Given the description of an element on the screen output the (x, y) to click on. 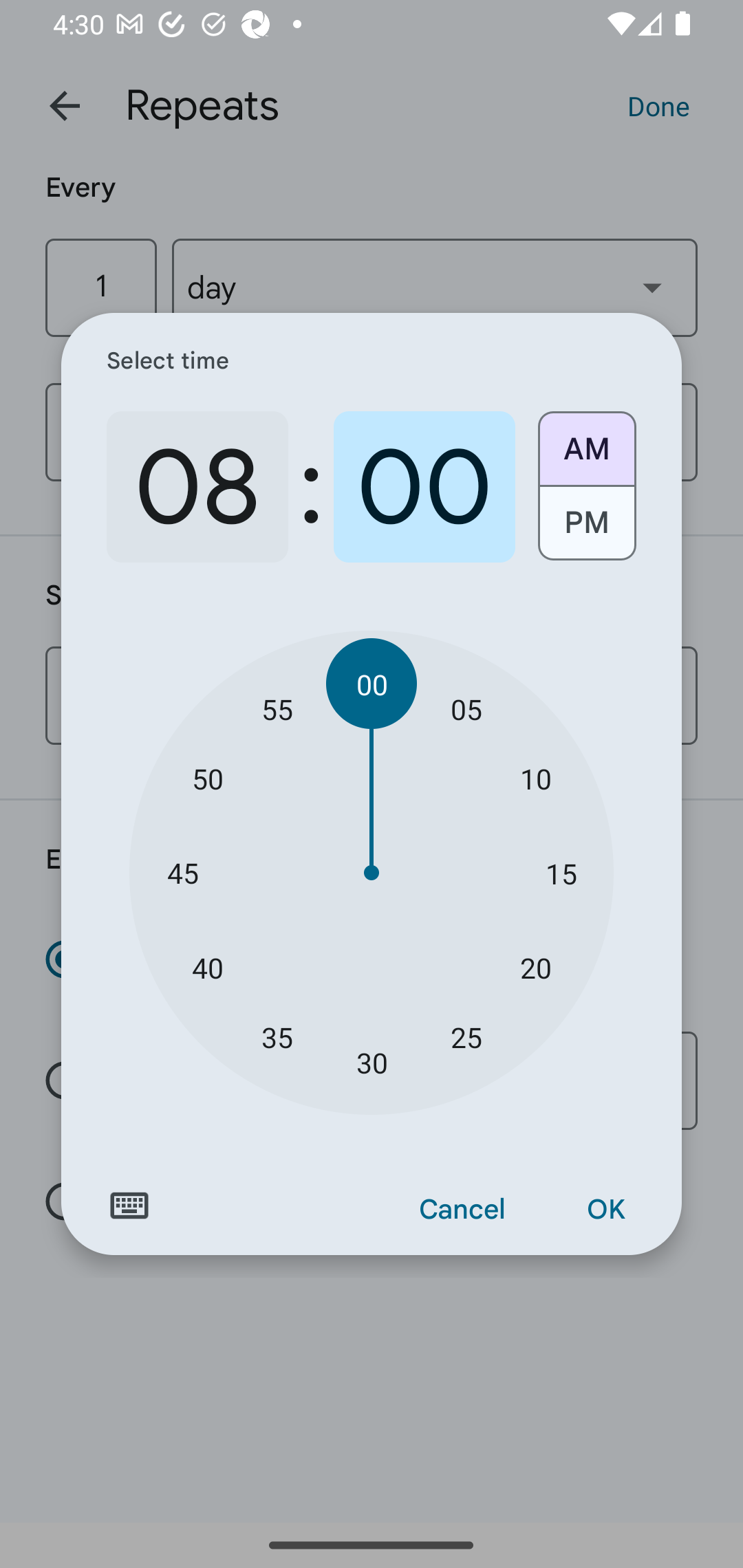
AM (586, 441)
08 8 o'clock (197, 486)
00 0 minutes (424, 486)
PM (586, 529)
00 00 minutes (371, 683)
55 55 minutes (276, 708)
05 05 minutes (466, 708)
50 50 minutes (207, 778)
10 10 minutes (535, 778)
45 45 minutes (182, 872)
15 15 minutes (561, 872)
40 40 minutes (207, 966)
20 20 minutes (535, 966)
35 35 minutes (276, 1035)
25 25 minutes (466, 1035)
30 30 minutes (371, 1062)
Switch to text input mode for the time input. (128, 1205)
Cancel (462, 1209)
OK (605, 1209)
